Given the description of an element on the screen output the (x, y) to click on. 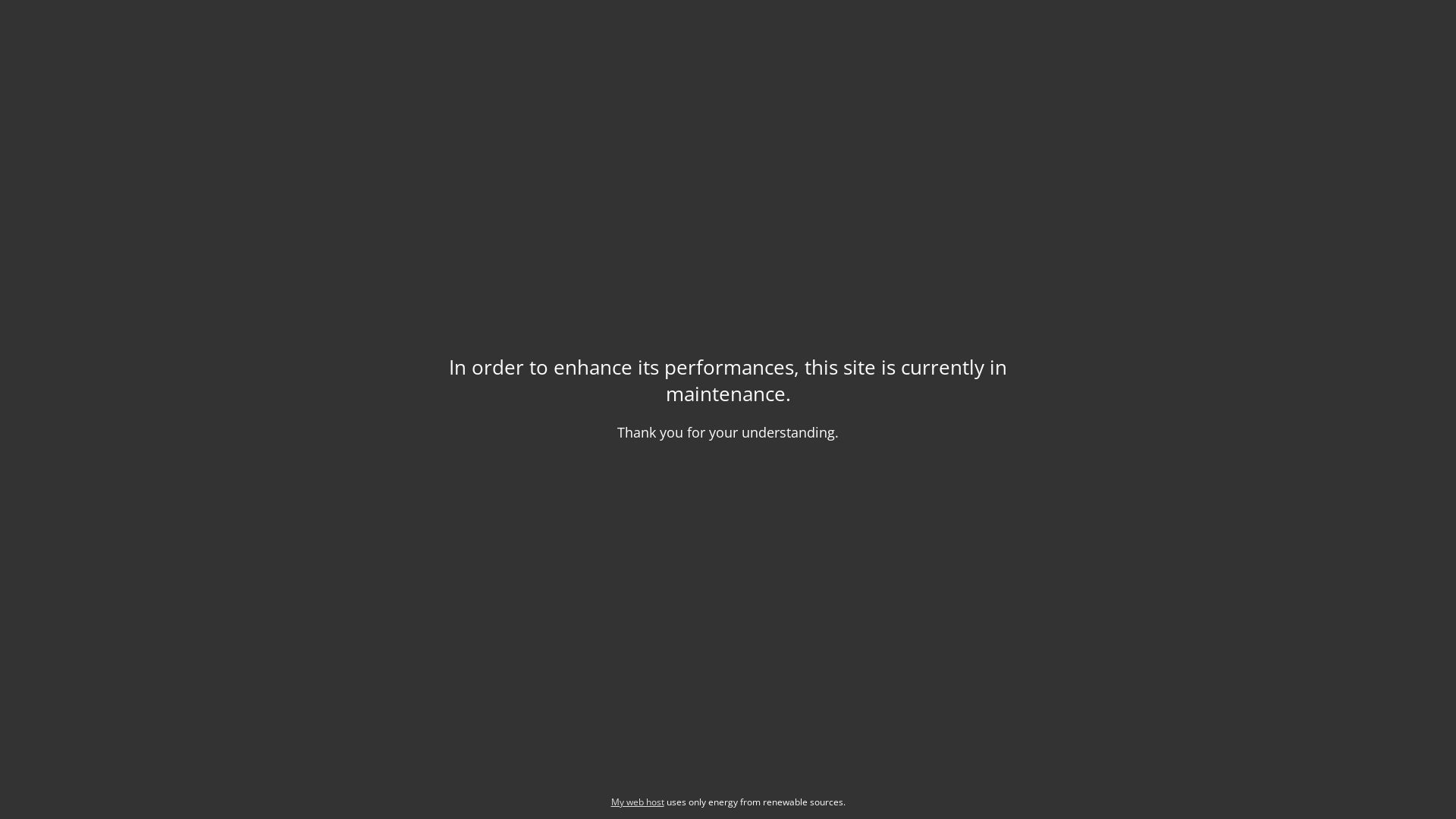
My web host Element type: text (637, 801)
